Given the description of an element on the screen output the (x, y) to click on. 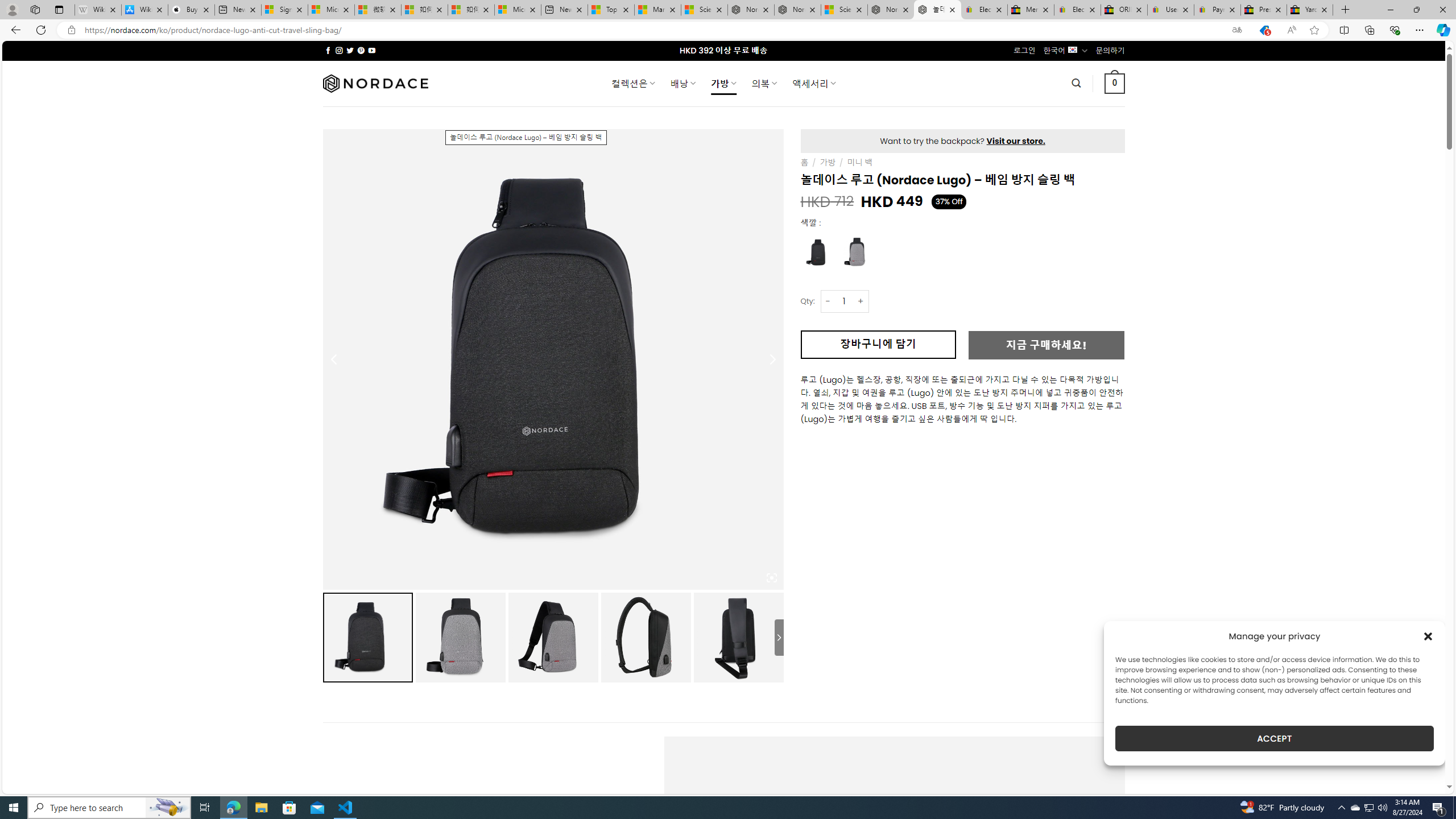
Class: iconic-woothumbs-fullscreen (771, 577)
